Given the description of an element on the screen output the (x, y) to click on. 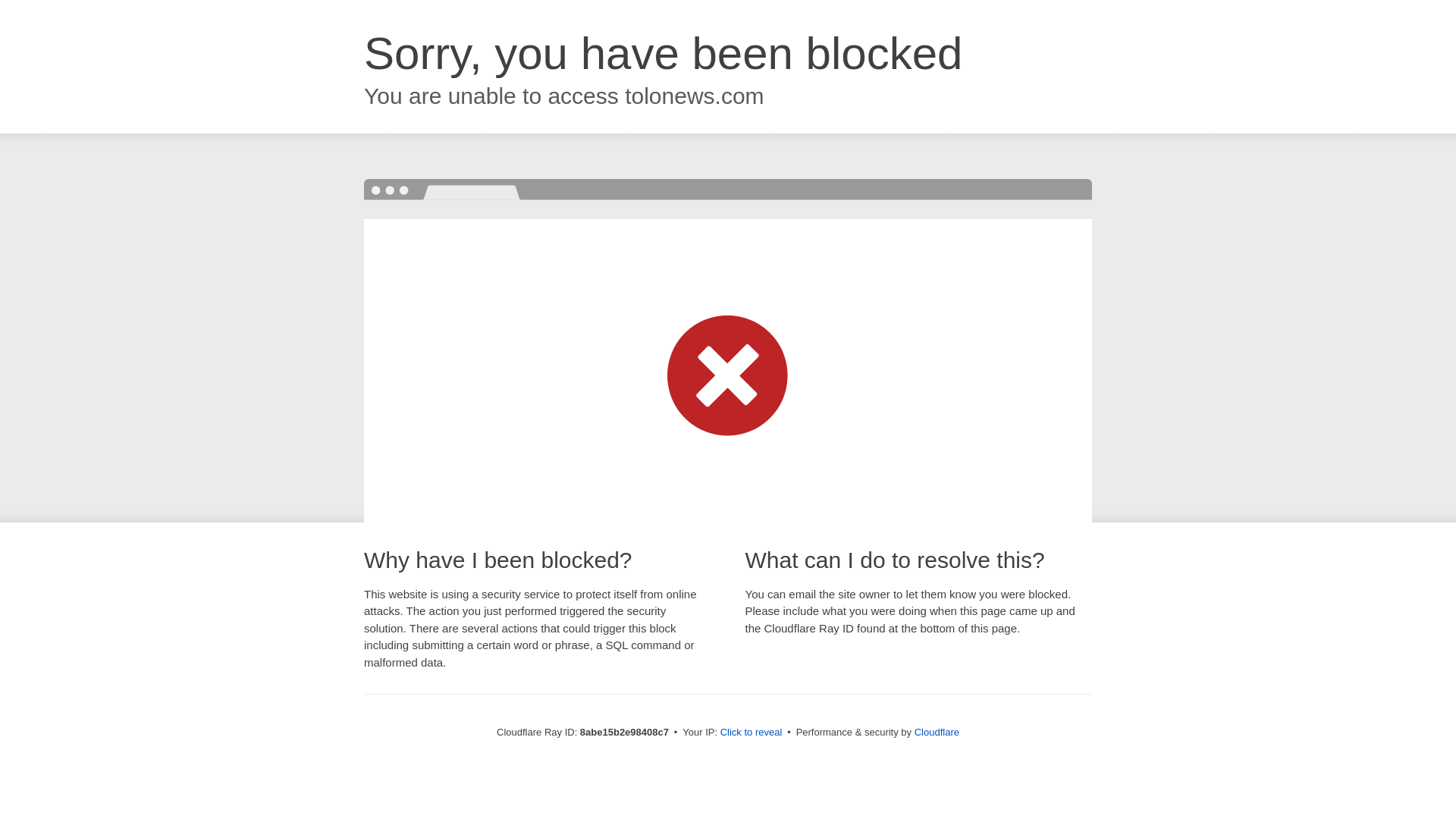
Cloudflare (936, 731)
Click to reveal (751, 732)
